Given the description of an element on the screen output the (x, y) to click on. 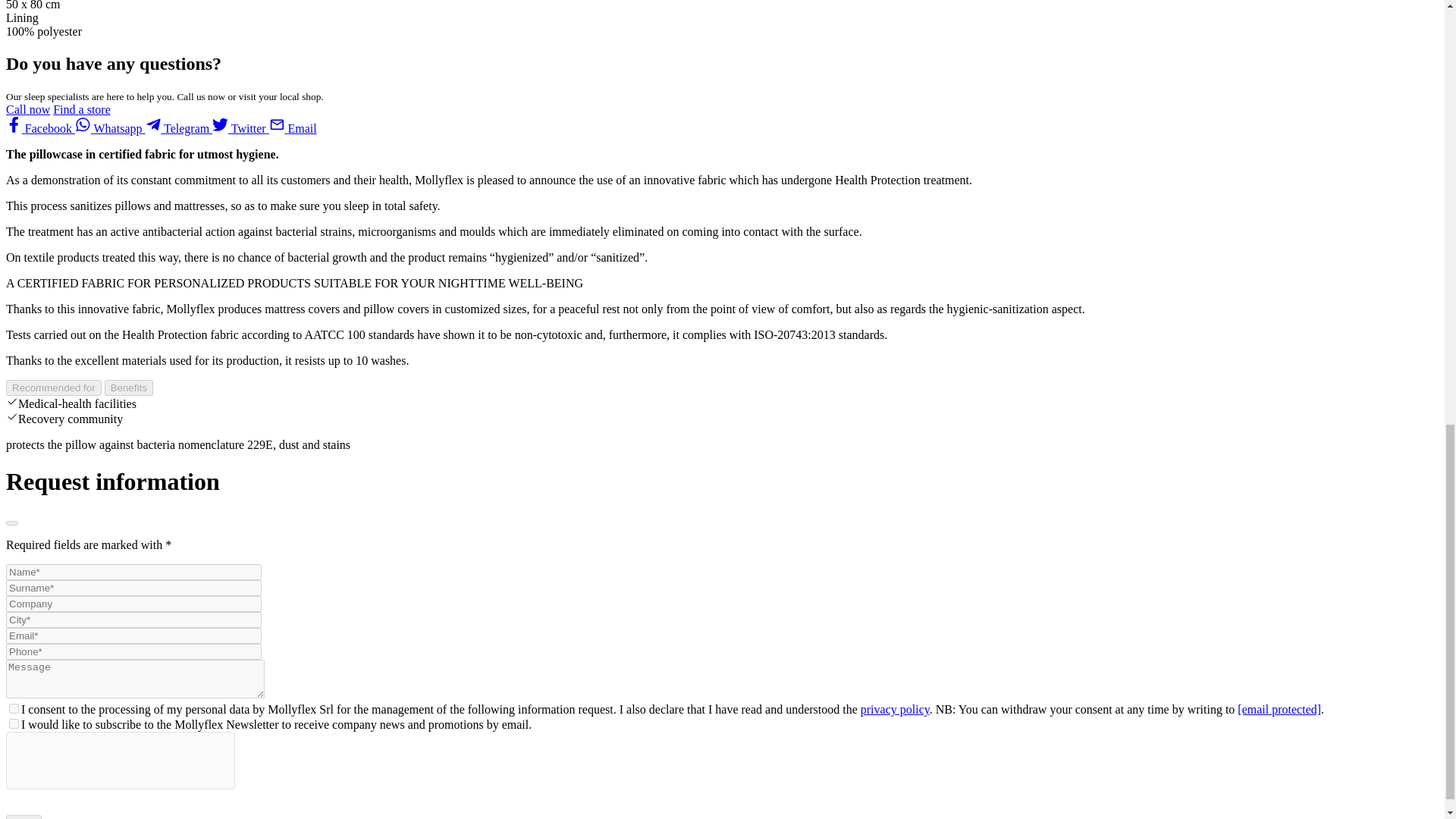
Stores (81, 109)
Call now (27, 109)
1 (13, 723)
Share on Telegram (178, 128)
Share on Whatsapp (110, 128)
Share on Facebook (40, 128)
1 (13, 708)
Share via Email (293, 128)
Share on Twitter (240, 128)
